Given the description of an element on the screen output the (x, y) to click on. 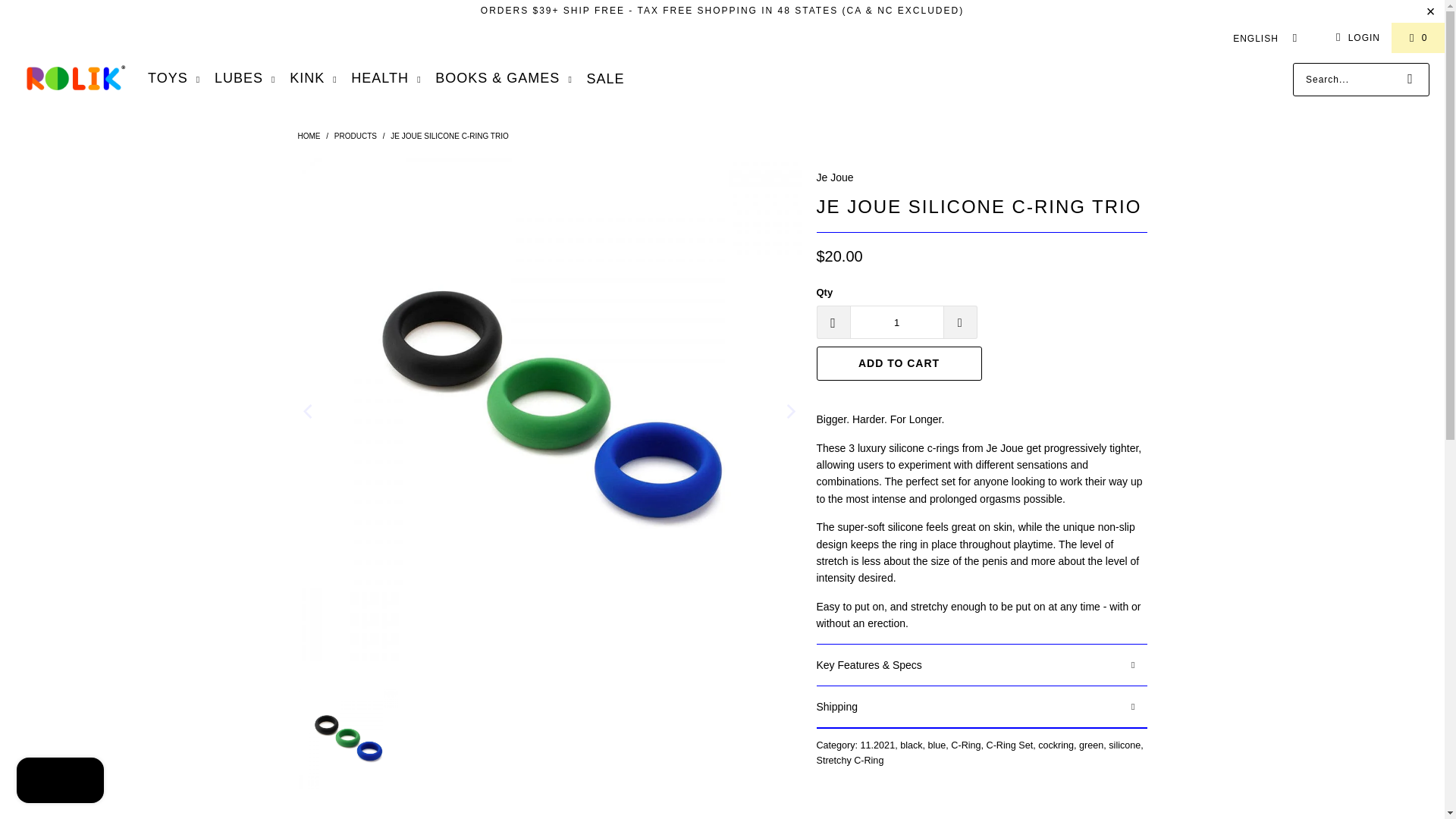
My Account  (1355, 37)
Products tagged 11.2021 (877, 745)
Products tagged blue (937, 745)
Products tagged C-Ring Set (1010, 745)
Products (356, 135)
1 (895, 322)
Products tagged black (910, 745)
Je Joue (834, 177)
Products tagged C-Ring (964, 745)
Products tagged cockring (1056, 745)
